Given the description of an element on the screen output the (x, y) to click on. 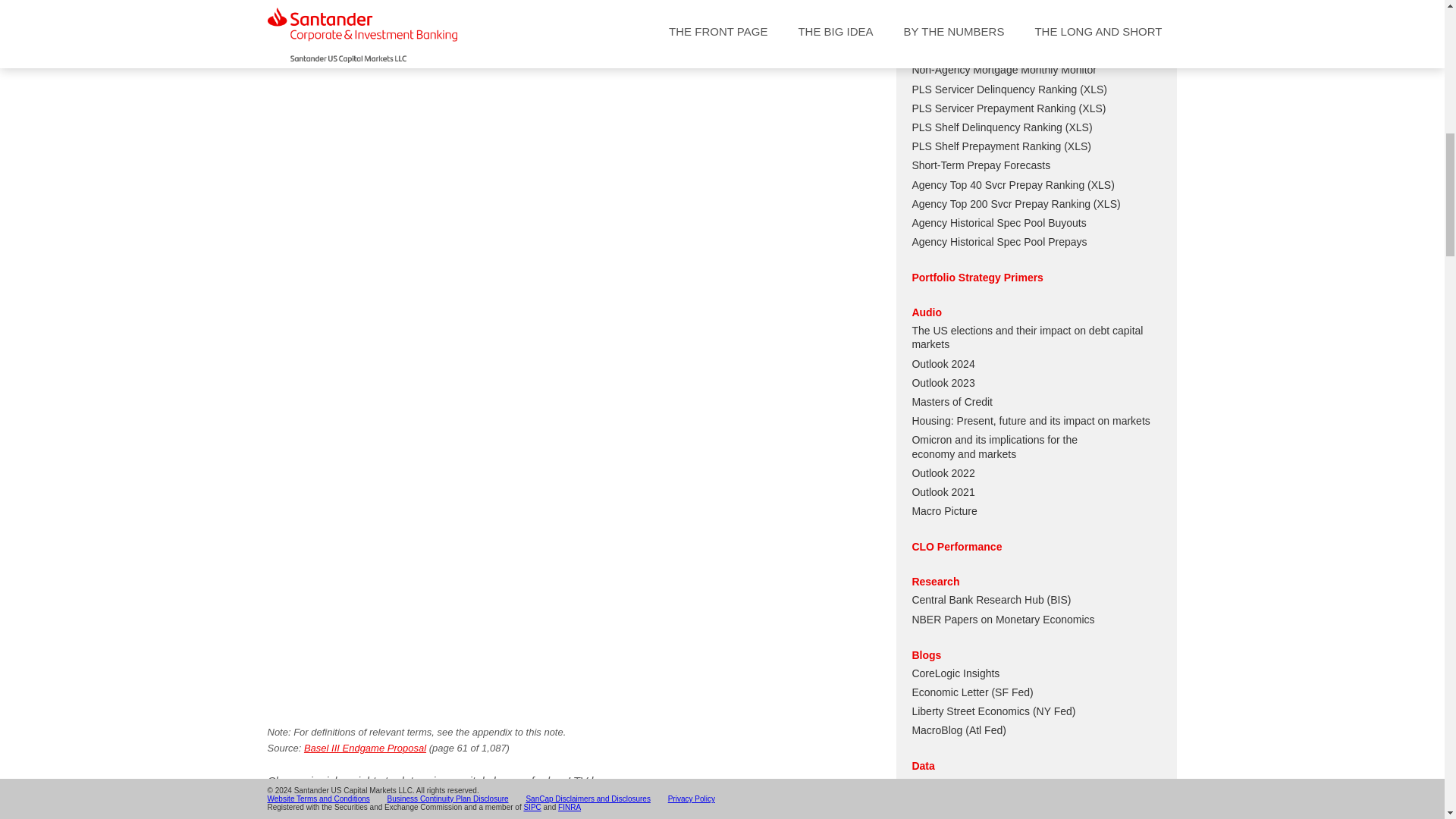
Front End Monitor (953, 12)
Non-Agency Mortgage Monthly Monitor (1003, 69)
Basel III Endgame Proposal (365, 747)
XLS (1093, 89)
Ginnie Mae Project Loan Prepays (990, 31)
PLS Servicer Delinquency Ranking (994, 89)
Latest Prepay Results (962, 50)
